Given the description of an element on the screen output the (x, y) to click on. 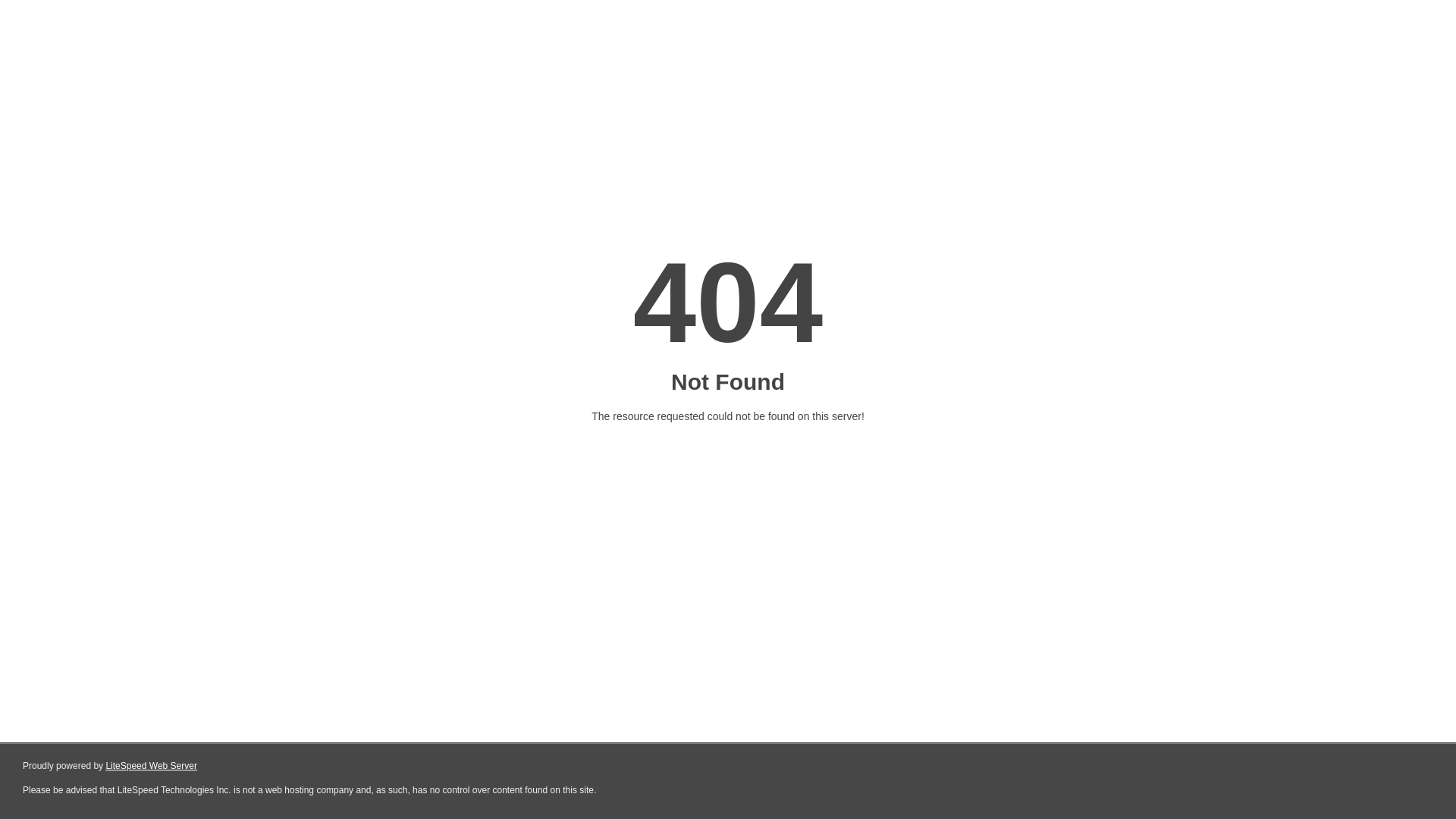
LiteSpeed Web Server Element type: text (151, 765)
